Given the description of an element on the screen output the (x, y) to click on. 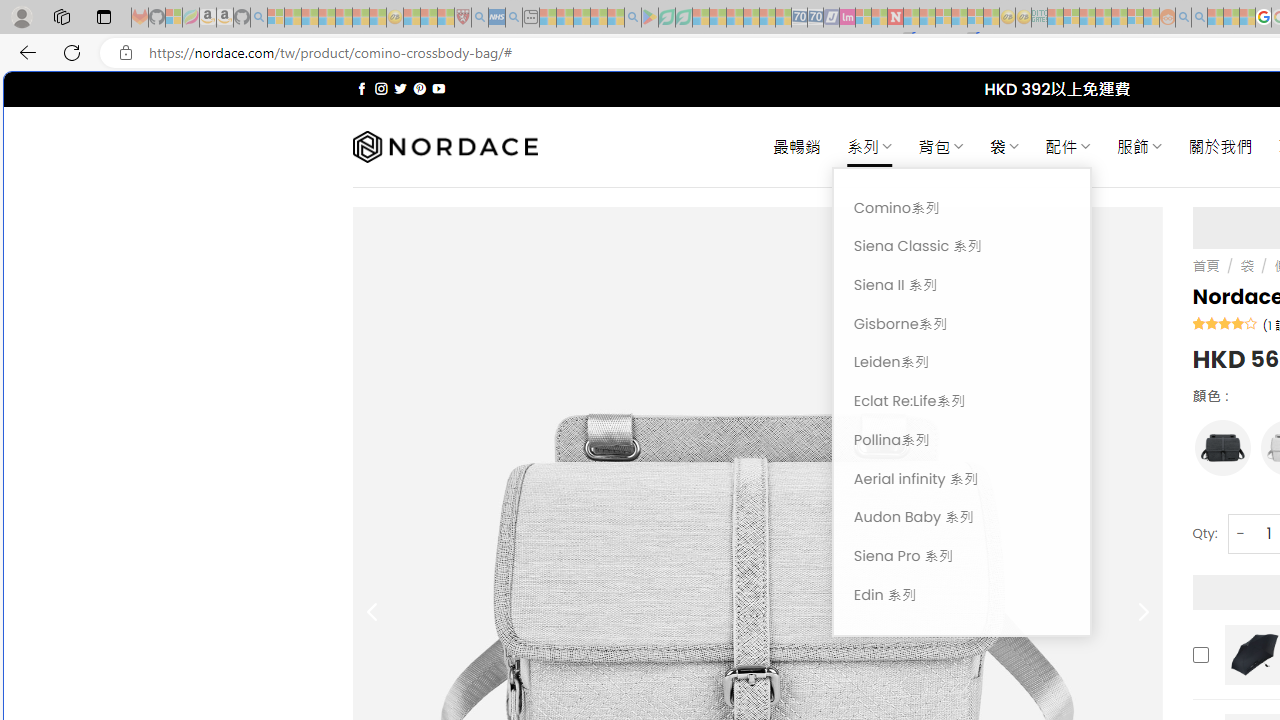
Pets - MSN - Sleeping (598, 17)
Follow on YouTube (438, 88)
Microsoft Start - Sleeping (1215, 17)
Follow on Pinterest (419, 88)
